Given the description of an element on the screen output the (x, y) to click on. 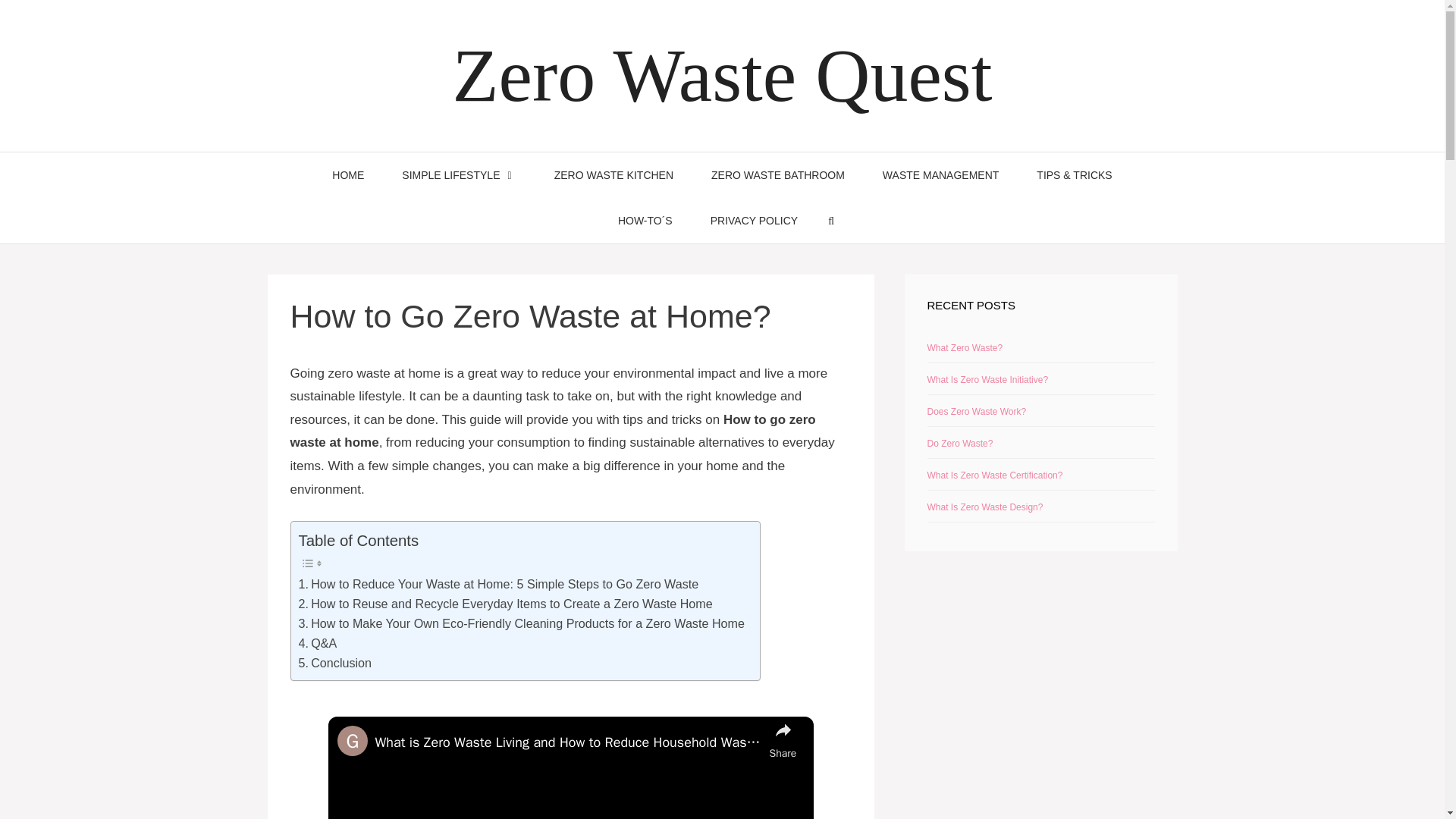
What Is Zero Waste Certification? (994, 475)
What is Zero Waste Living and How to Reduce Household Waste? (567, 742)
What Zero Waste? (964, 347)
Conclusion (335, 663)
WASTE MANAGEMENT (940, 175)
Does Zero Waste Work? (976, 411)
PRIVACY POLICY (753, 220)
What Is Zero Waste Design? (984, 507)
Do Zero Waste? (959, 443)
Zero Waste Quest (721, 75)
ZERO WASTE KITCHEN (614, 175)
